Given the description of an element on the screen output the (x, y) to click on. 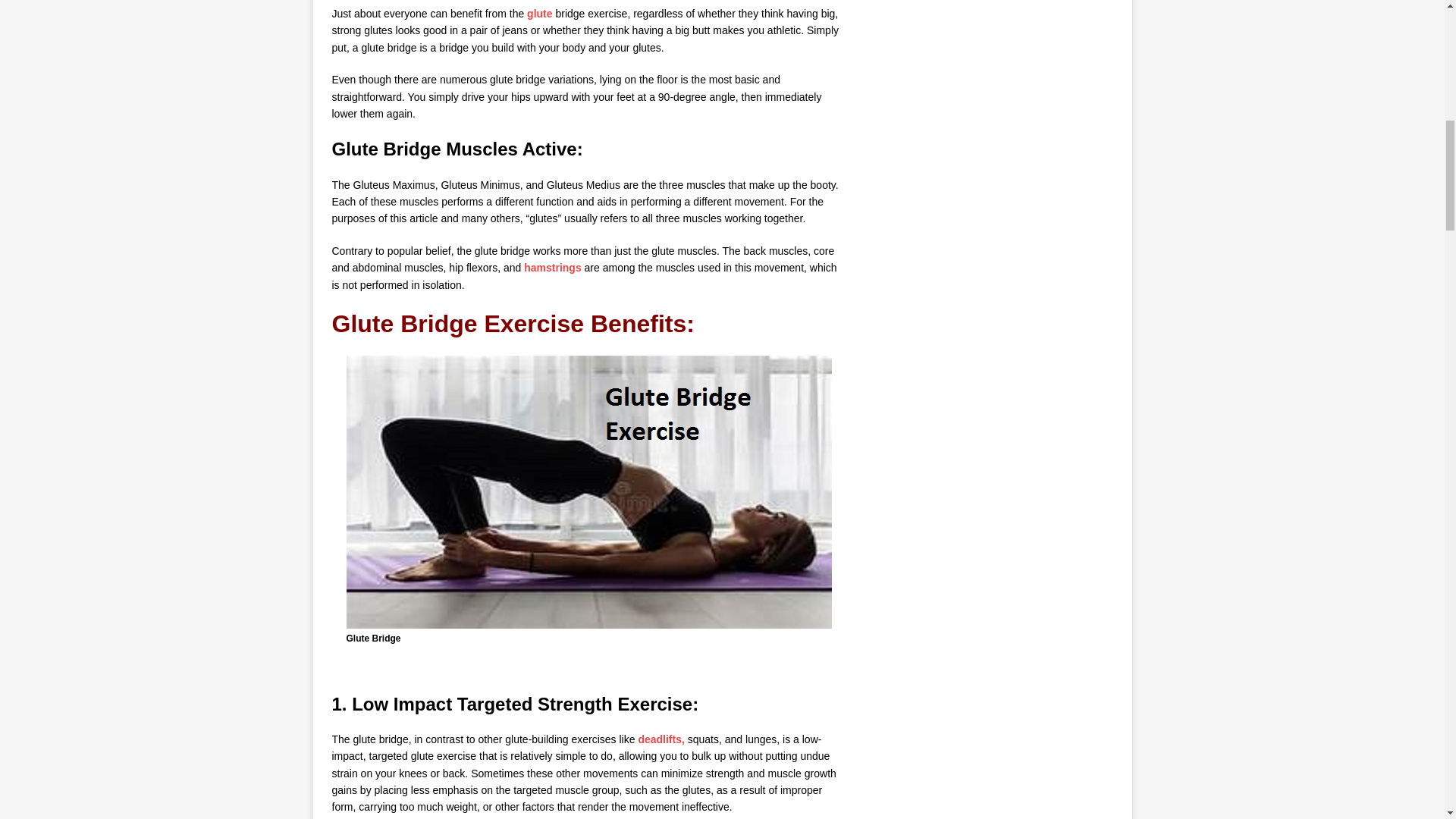
glute (539, 13)
deadlifts, (660, 739)
hamstrings (552, 267)
